Given the description of an element on the screen output the (x, y) to click on. 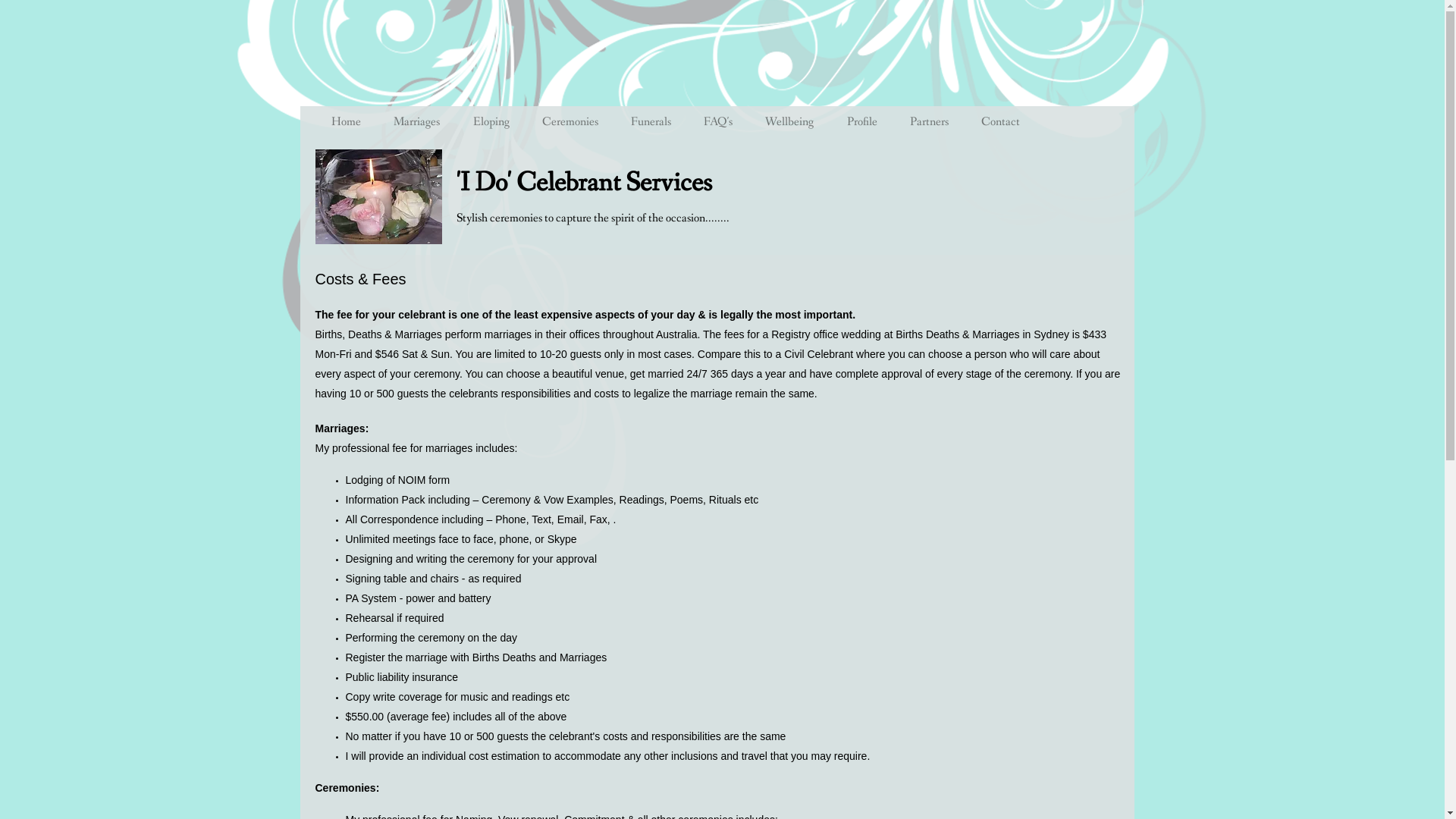
Ceremonies Element type: text (569, 121)
Funerals Element type: text (650, 121)
Partners Element type: text (928, 121)
FAQ's Element type: text (718, 121)
Wellbeing Element type: text (789, 121)
Eloping Element type: text (490, 121)
Home Element type: text (346, 121)
Profile Element type: text (861, 121)
Contact Element type: text (999, 121)
Marriages Element type: text (416, 121)
